Given the description of an element on the screen output the (x, y) to click on. 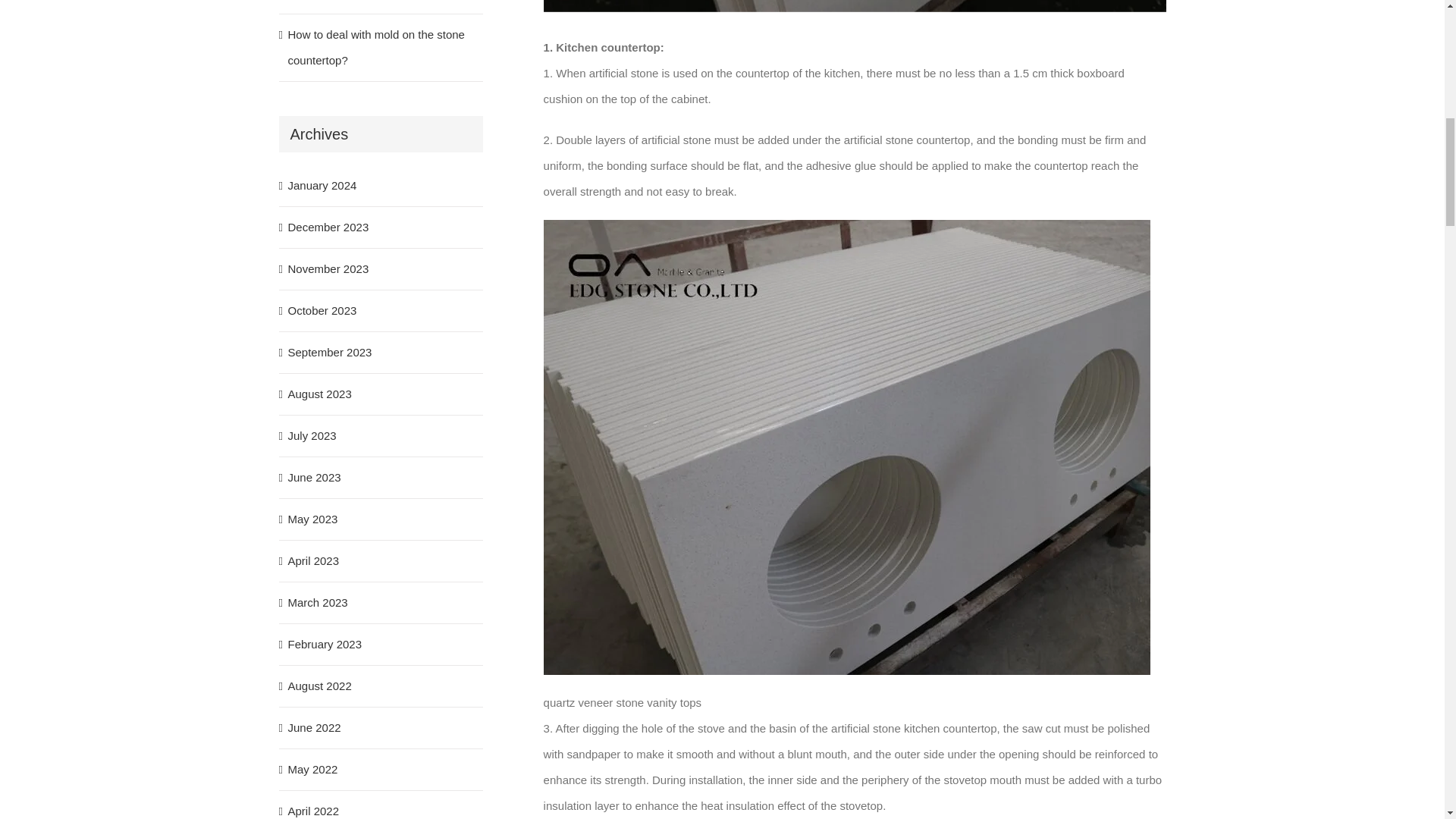
stone italiana quartz kitchen countertops (854, 6)
